Given the description of an element on the screen output the (x, y) to click on. 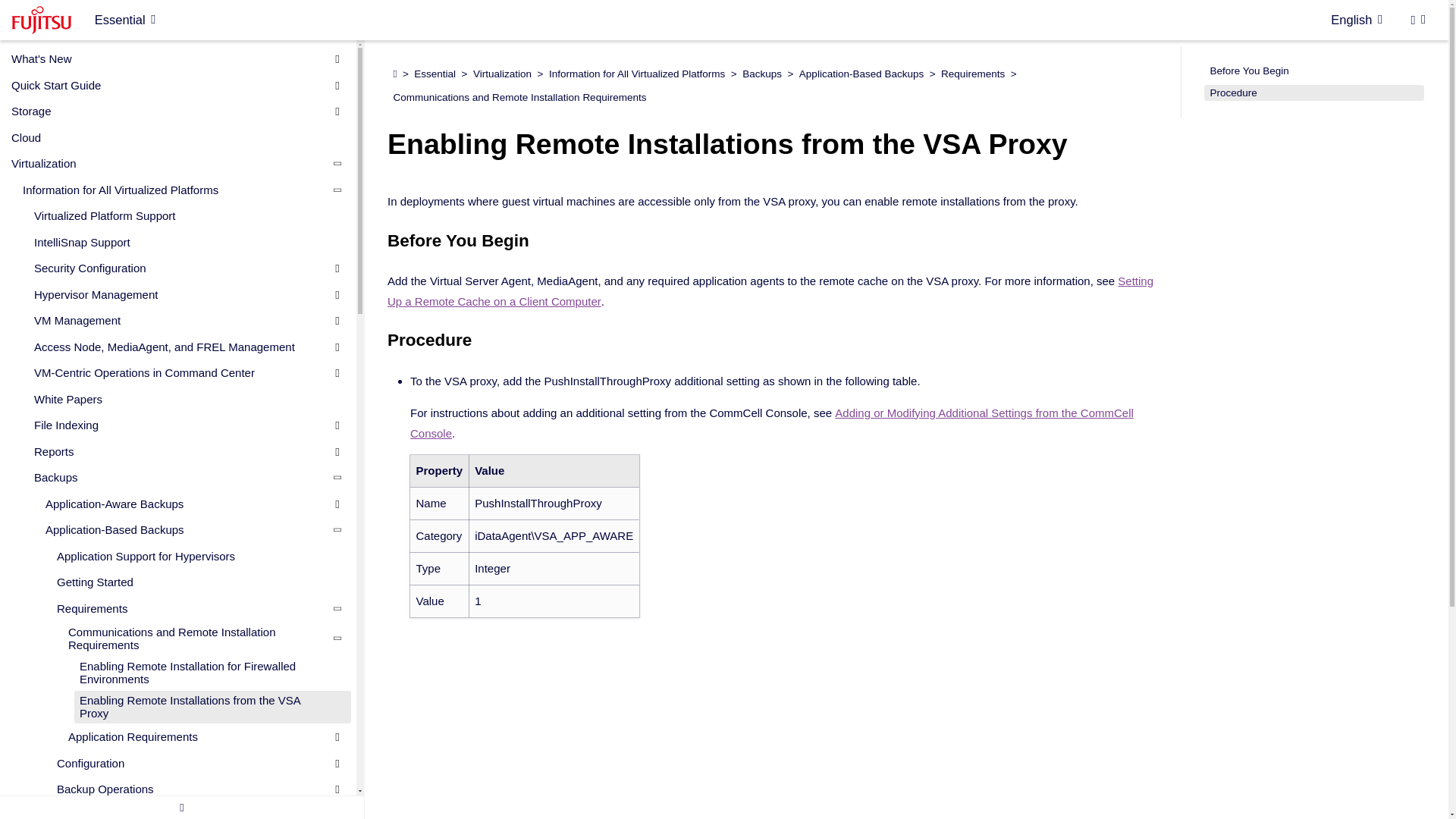
Hide the navigation (182, 807)
Backups (181, 477)
Hypervisor Management (181, 294)
Quick Start Guide (170, 85)
Information for All Virtualized Platforms (176, 189)
Virtualization (170, 163)
English (1356, 20)
White Papers (181, 398)
File Indexing (181, 425)
What's New (170, 58)
Select a doc site (124, 20)
Storage (170, 111)
VM Management (181, 321)
IntelliSnap Support (181, 242)
Security Configuration (181, 268)
